Given the description of an element on the screen output the (x, y) to click on. 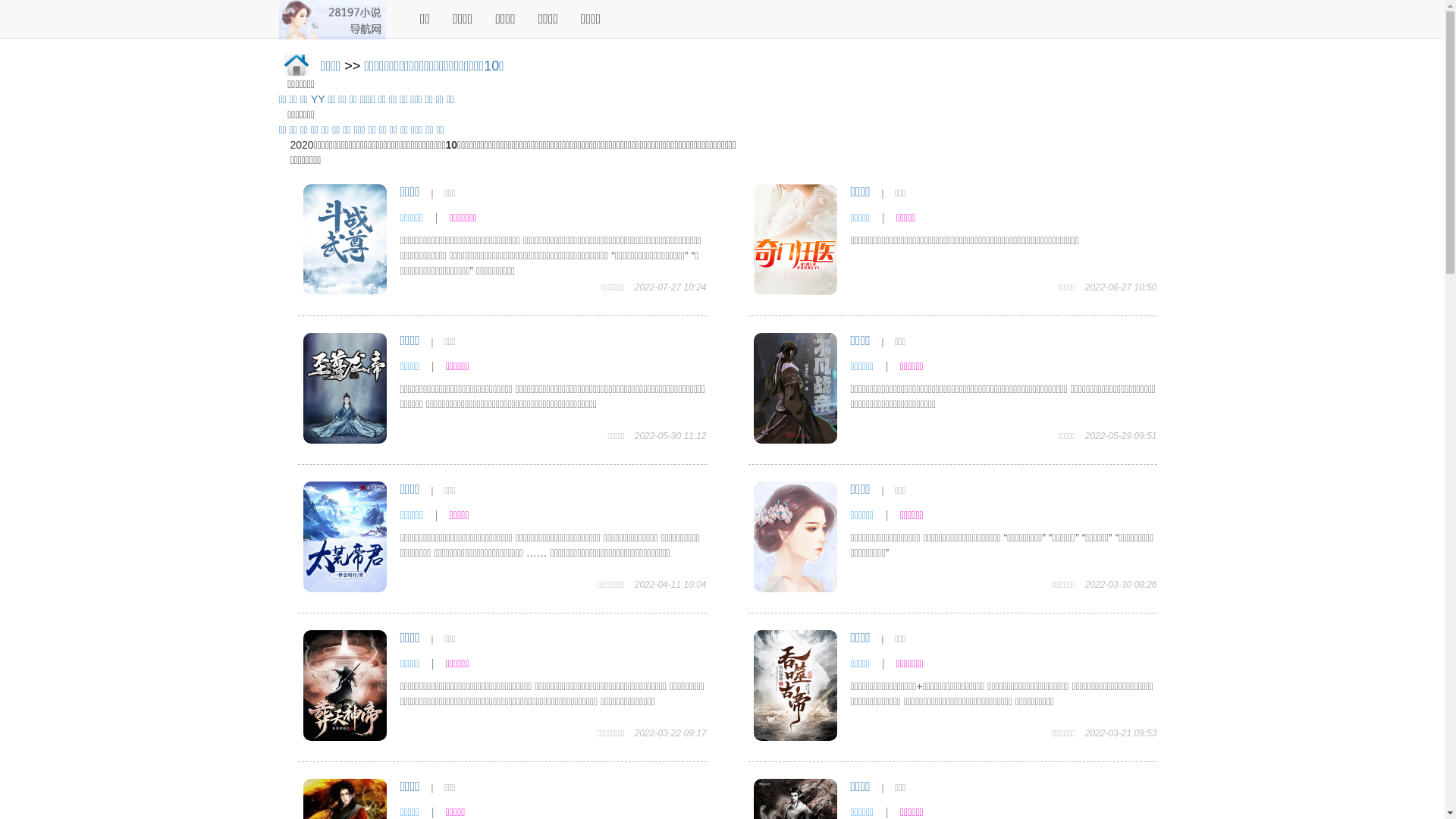
YY Element type: text (317, 99)
